Given the description of an element on the screen output the (x, y) to click on. 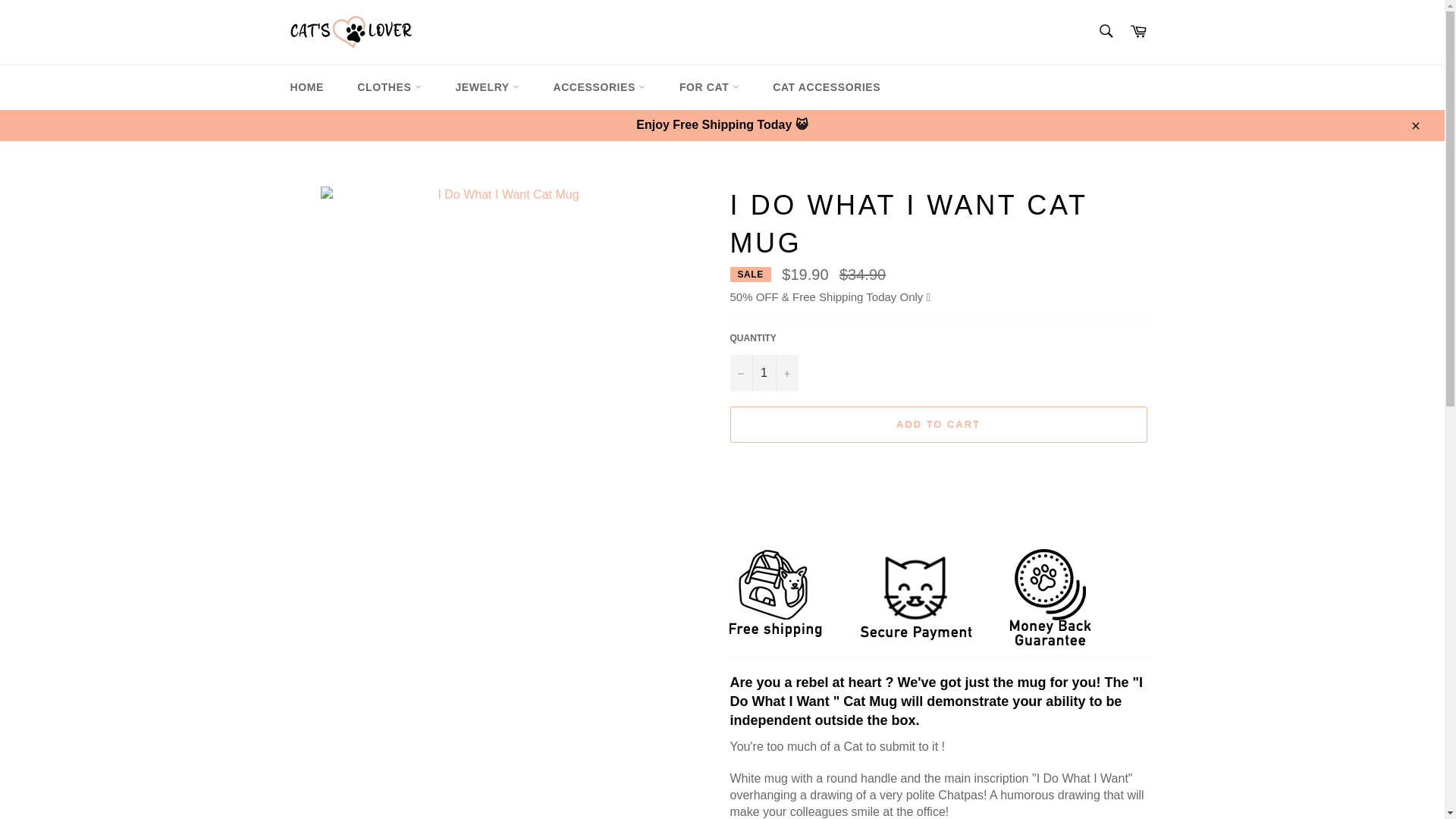
Cart (1138, 32)
Search (1104, 30)
1 (763, 372)
CLOTHES (389, 87)
HOME (306, 87)
